Given the description of an element on the screen output the (x, y) to click on. 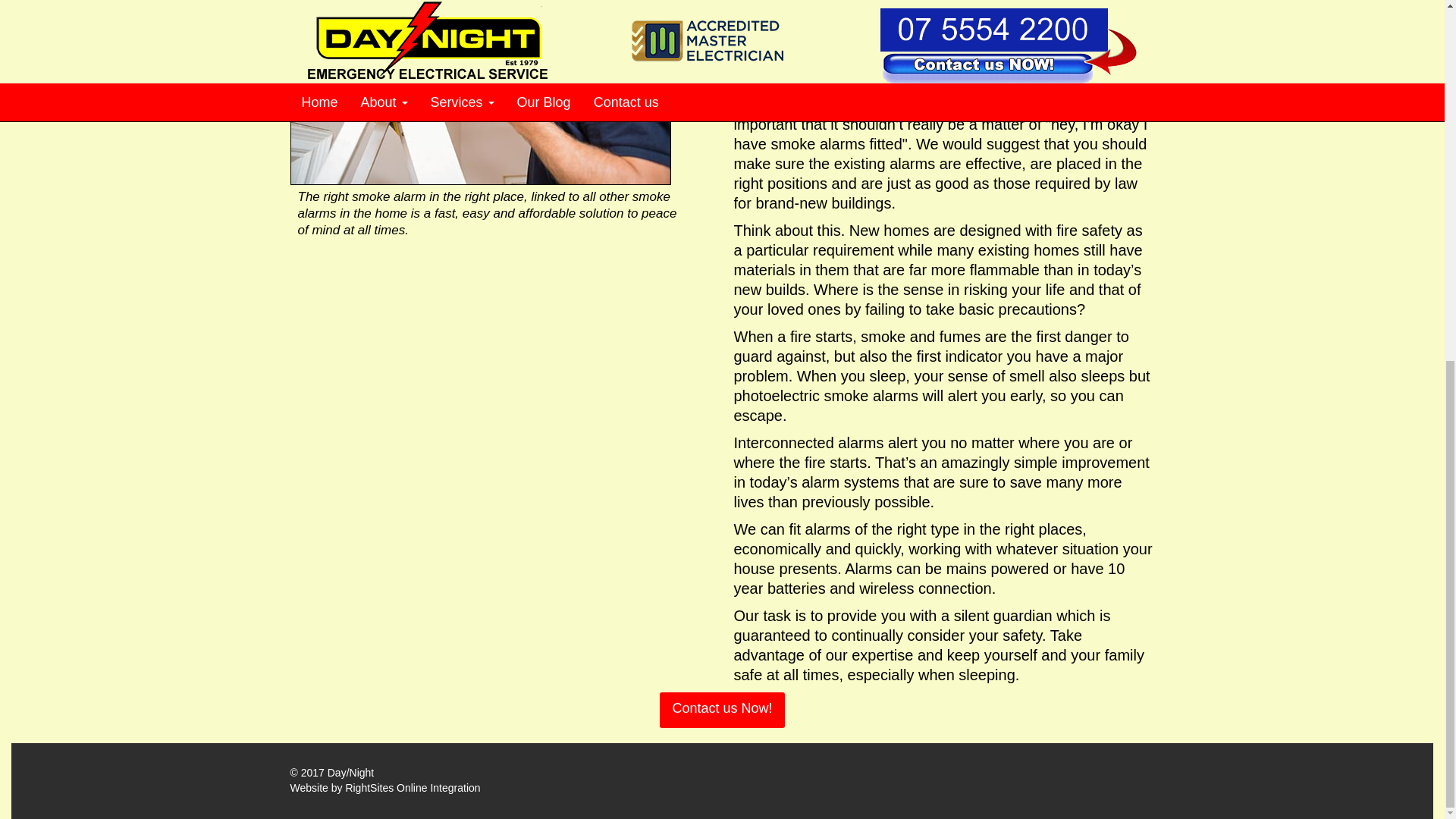
RightSites Online Integration (412, 787)
Contact us Now! (721, 710)
